Given the description of an element on the screen output the (x, y) to click on. 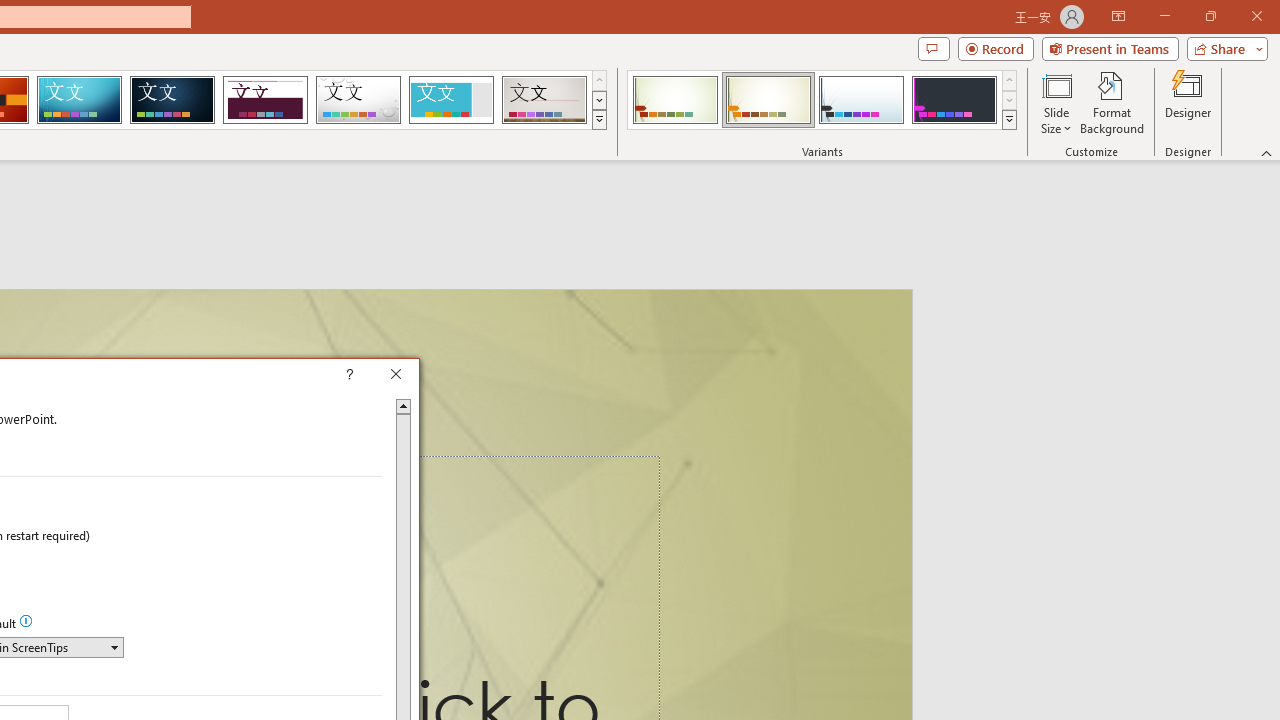
Frame Loading Preview... (450, 100)
Circuit Loading Preview... (79, 100)
Format Background (1111, 102)
Dividend Loading Preview... (265, 100)
Variants (1009, 120)
Droplet Loading Preview... (358, 100)
Gallery Loading Preview... (544, 100)
